Given the description of an element on the screen output the (x, y) to click on. 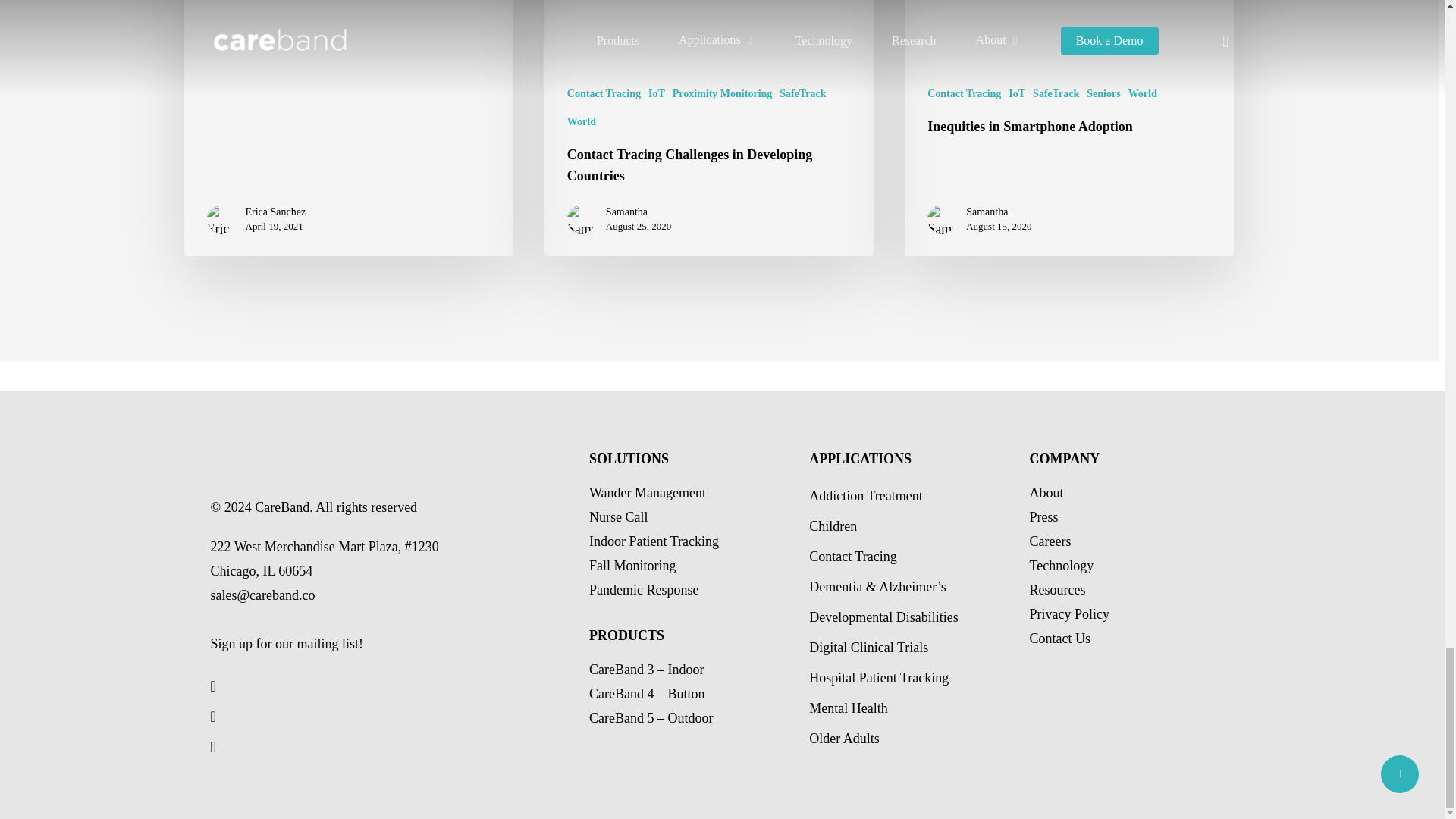
Erica Sanchez (275, 212)
Contact Tracing (603, 93)
